Given the description of an element on the screen output the (x, y) to click on. 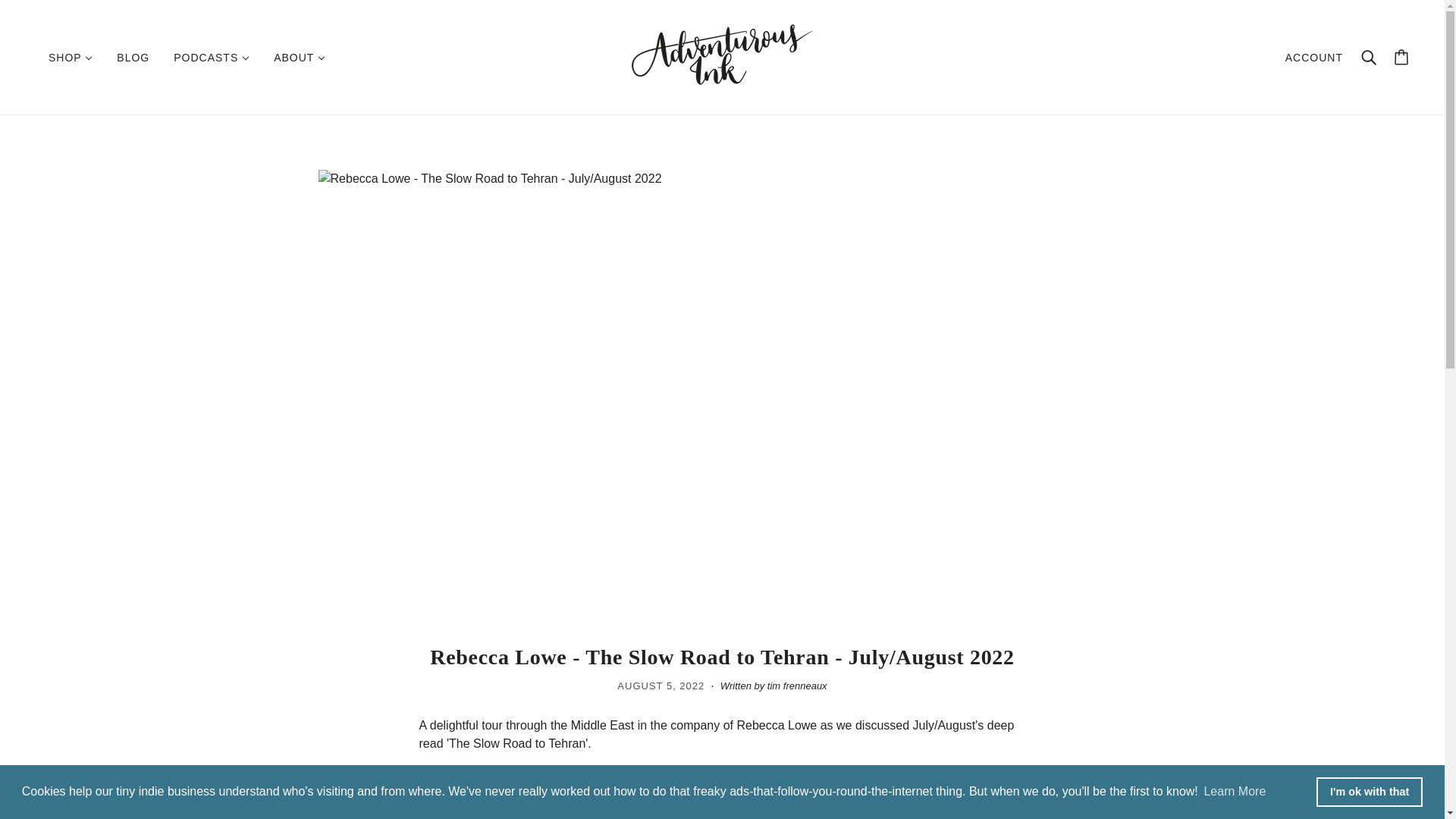
Watch on YouTube (722, 798)
PODCASTS  (211, 56)
I'm ok with that (1369, 791)
SHOP  (70, 56)
BLOG (132, 56)
Learn More (1234, 791)
ACCOUNT (1313, 57)
Adventurous Ink (721, 80)
ABOUT  (299, 56)
